Given the description of an element on the screen output the (x, y) to click on. 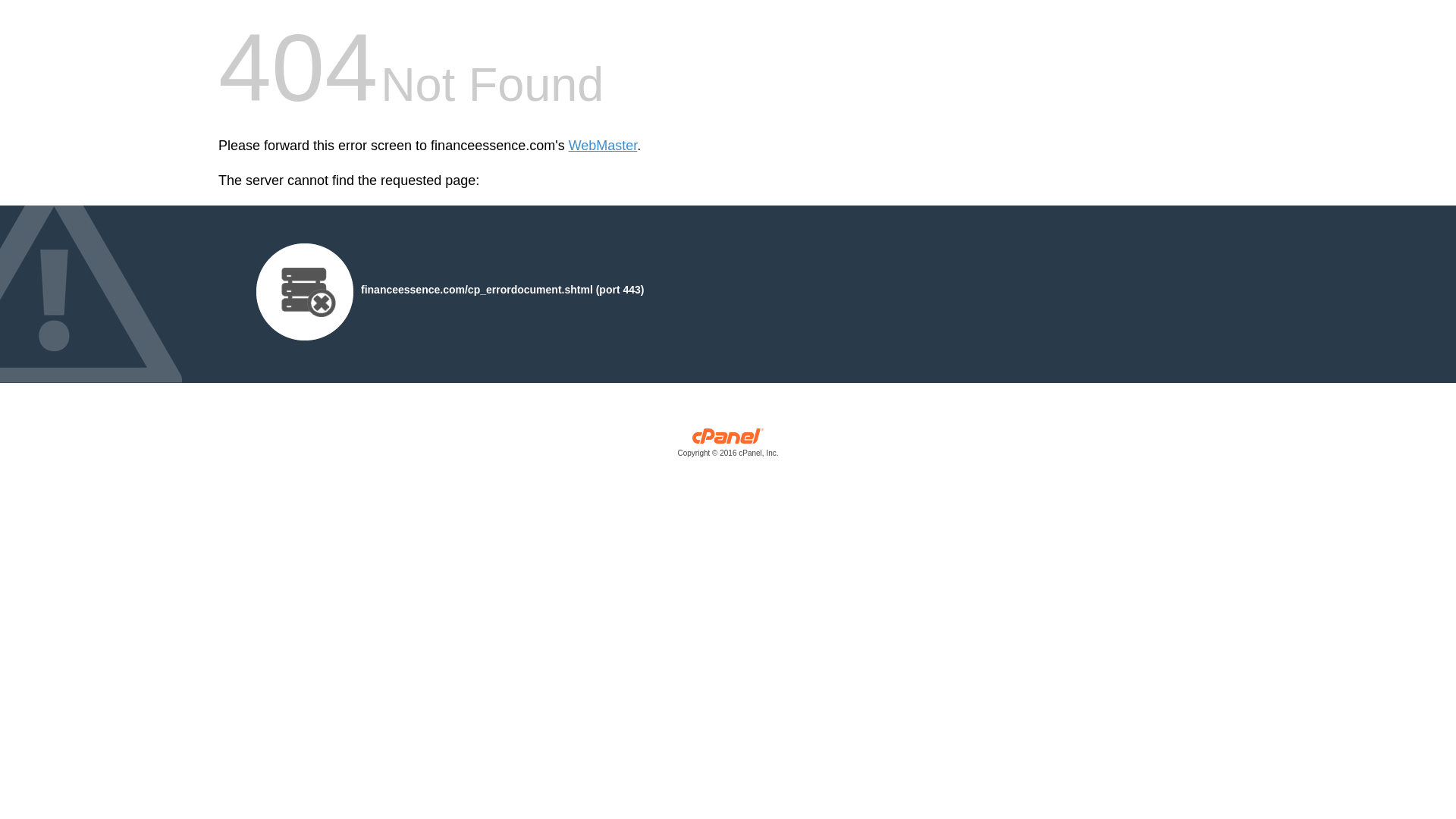
cPanel, Inc. (727, 446)
WebMaster (603, 145)
